Given the description of an element on the screen output the (x, y) to click on. 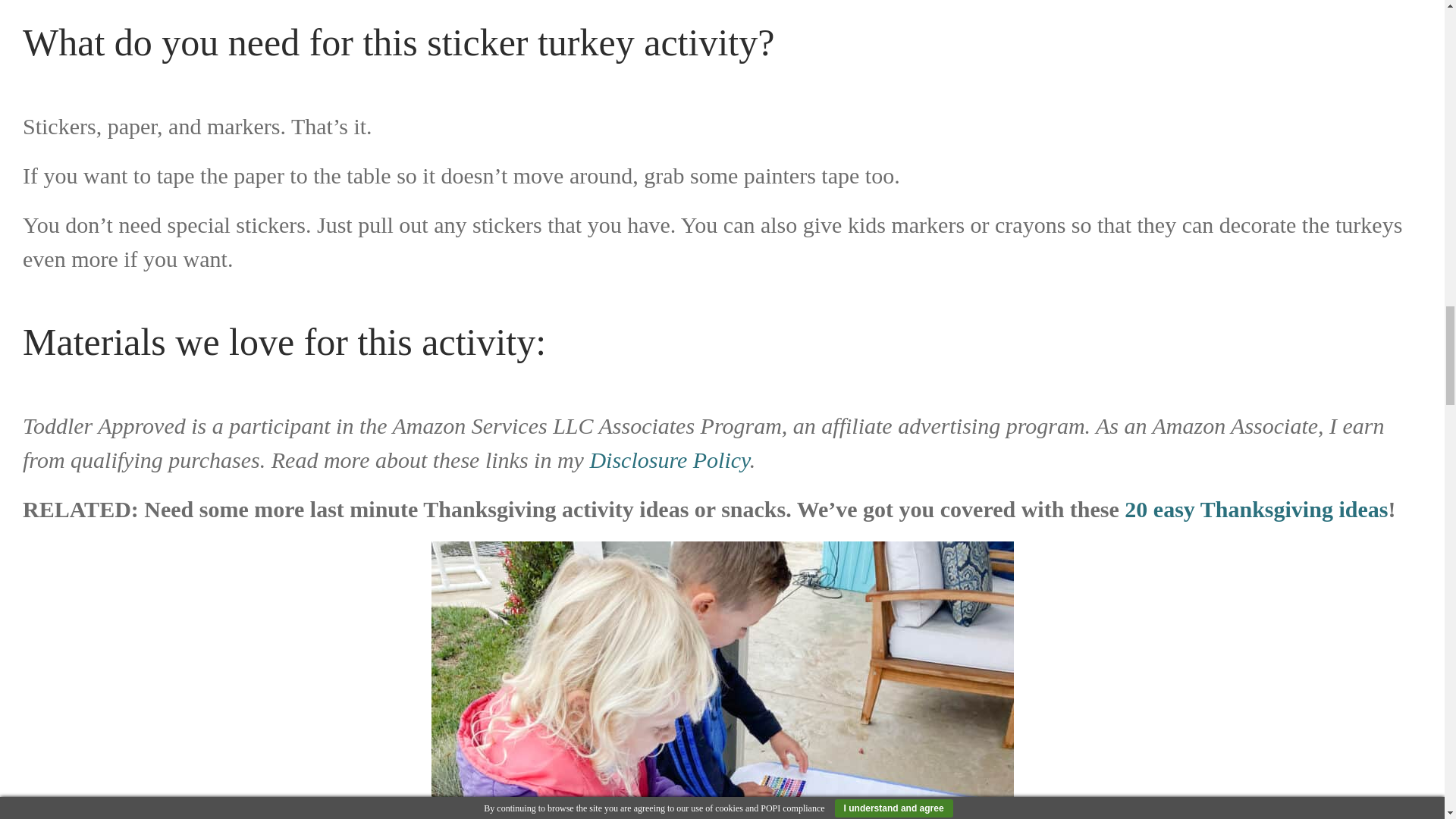
20 easy Thanksgiving ideas (1255, 508)
Disclosure Policy (669, 459)
